Given the description of an element on the screen output the (x, y) to click on. 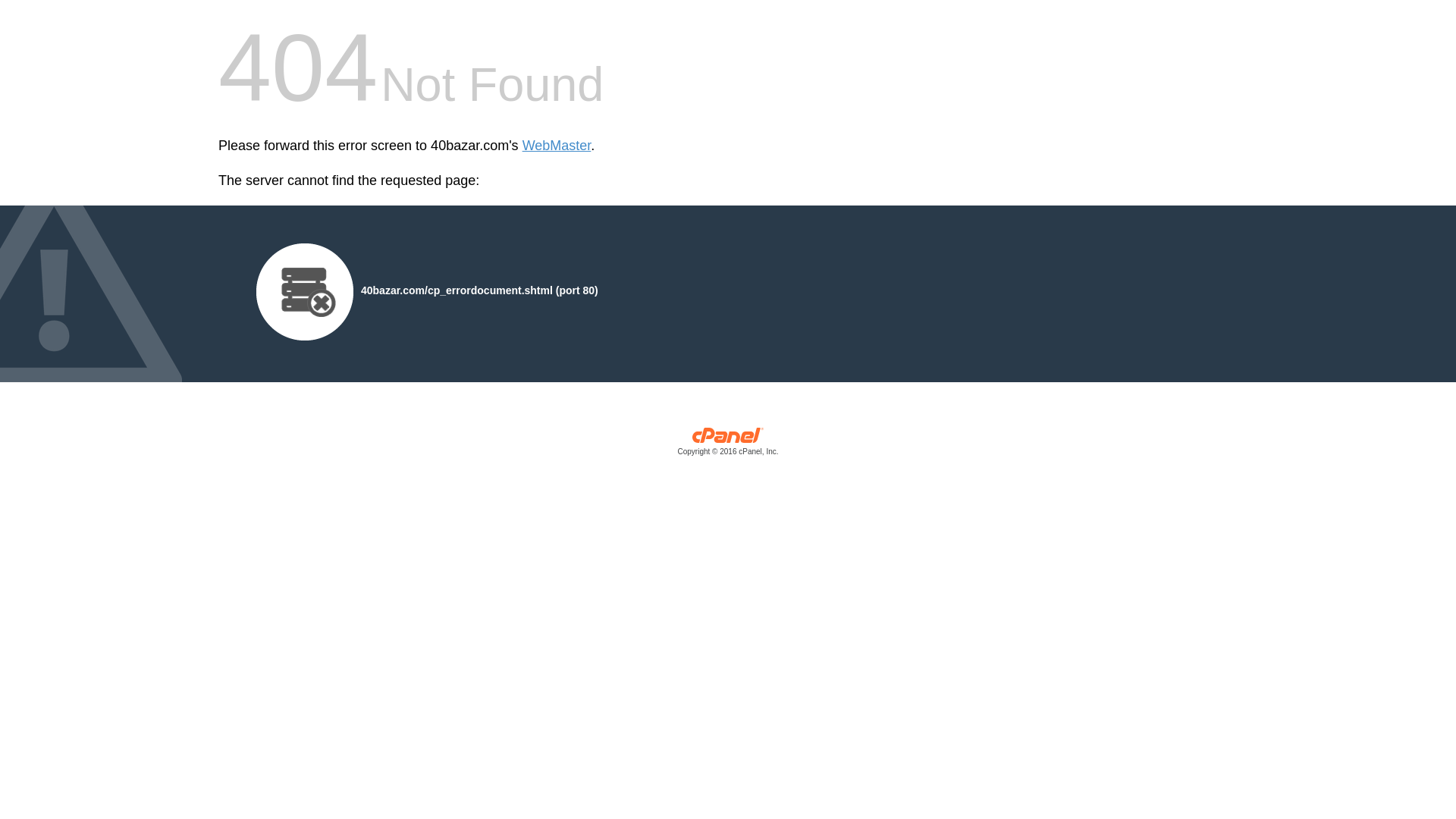
WebMaster Element type: text (556, 145)
